Given the description of an element on the screen output the (x, y) to click on. 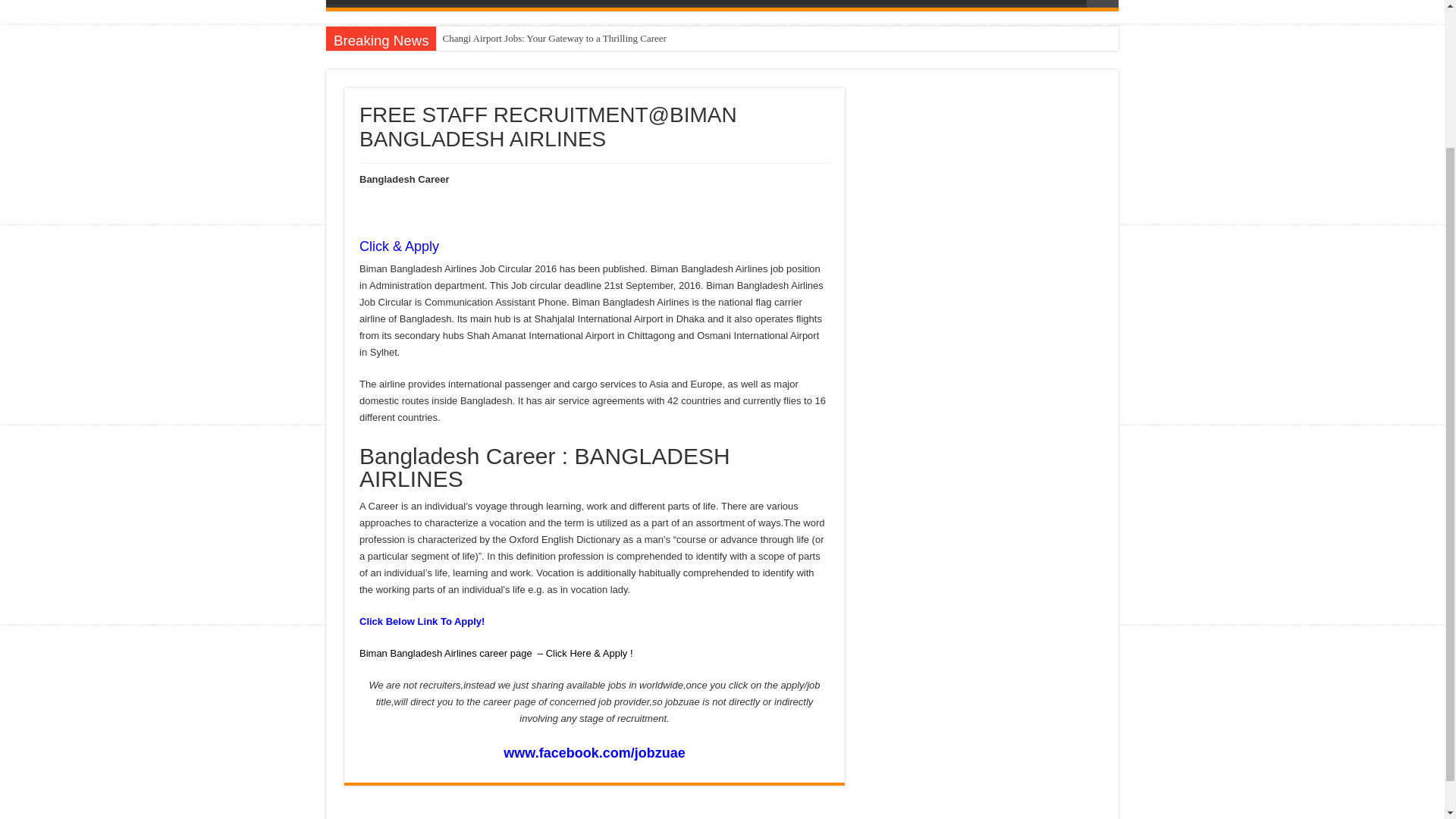
Random Article (1102, 3)
Changi Airport Jobs: Your Gateway to a Thrilling Career (555, 38)
Changi Airport Jobs: Your Gateway to a Thrilling Career (555, 38)
